Given the description of an element on the screen output the (x, y) to click on. 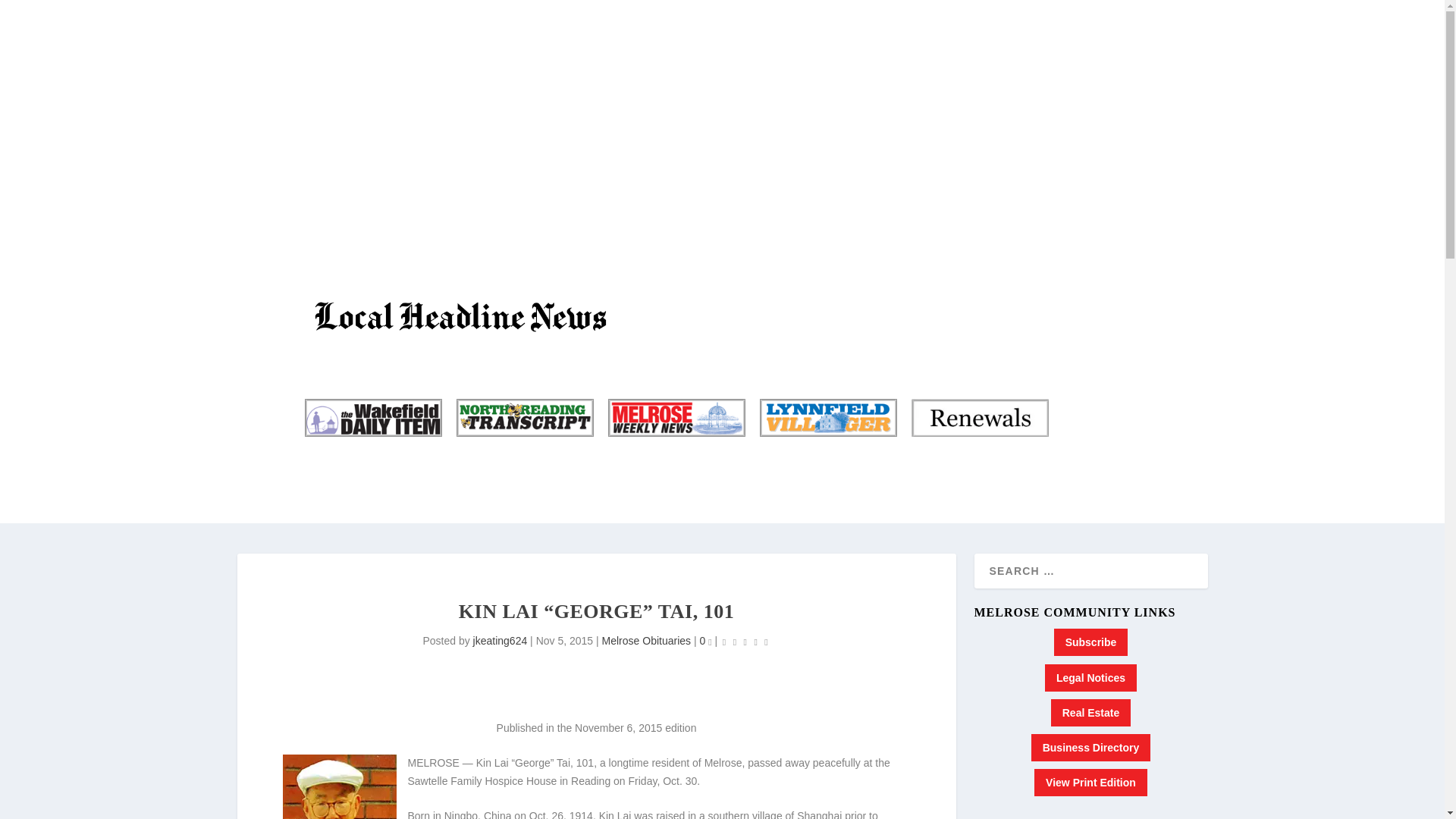
Rating: 0.00 (745, 641)
Legal Notices (1091, 677)
Business Directory (1090, 747)
Subscribe (1091, 642)
Melrose Obituaries (646, 640)
Real Estate (1091, 712)
Login (1118, 112)
Wakefield (371, 417)
Melrose (675, 417)
North Reading (524, 417)
